Given the description of an element on the screen output the (x, y) to click on. 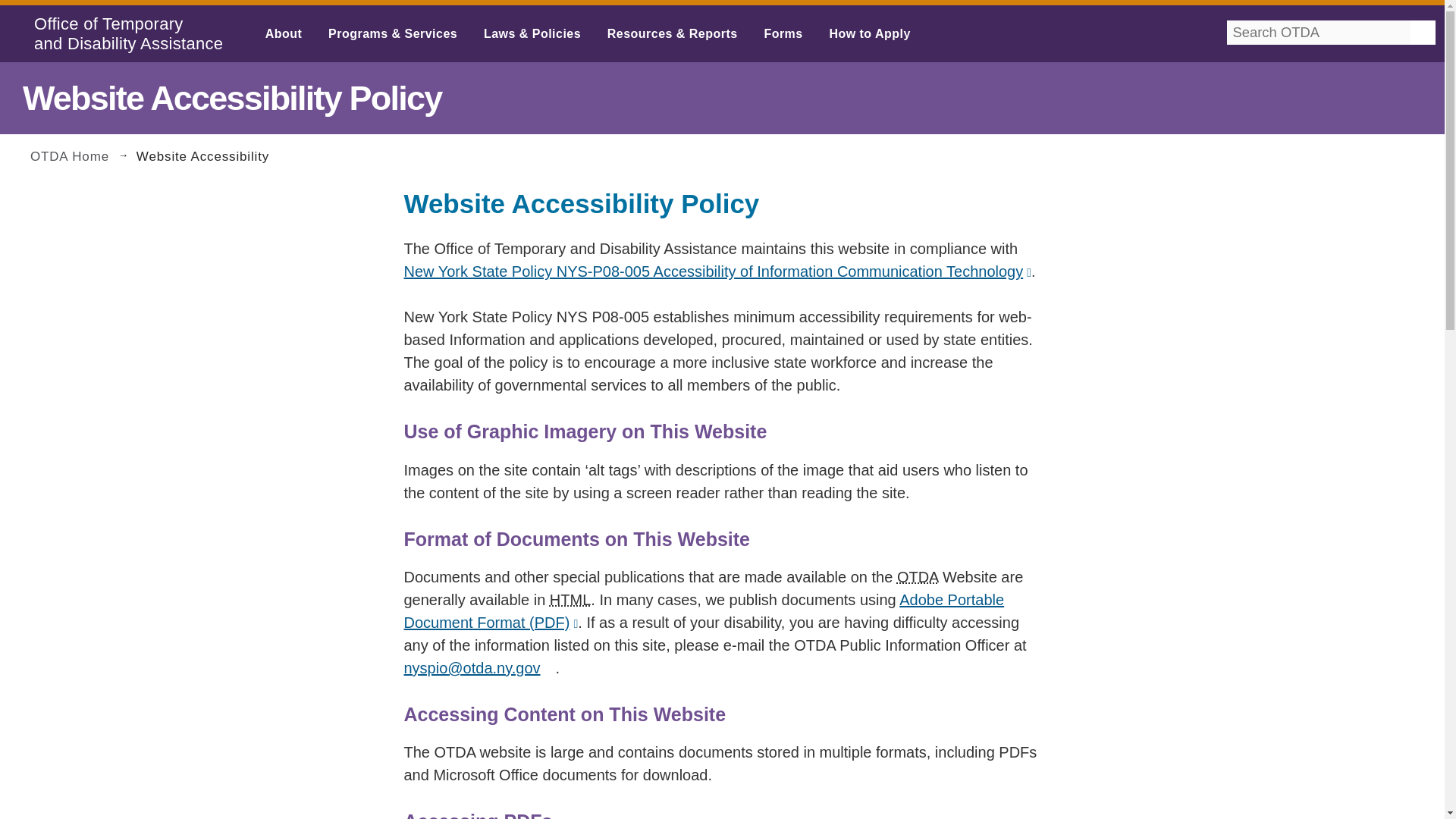
Office of Temporary and Disability Assistance (916, 576)
Forms (782, 33)
How to Apply (868, 33)
OTDA Home (81, 155)
Search entire site (1418, 48)
hypertext markup language (570, 599)
Send e-mail to OTDA Public Information Officer (478, 668)
Search OTDA (1308, 48)
